Given the description of an element on the screen output the (x, y) to click on. 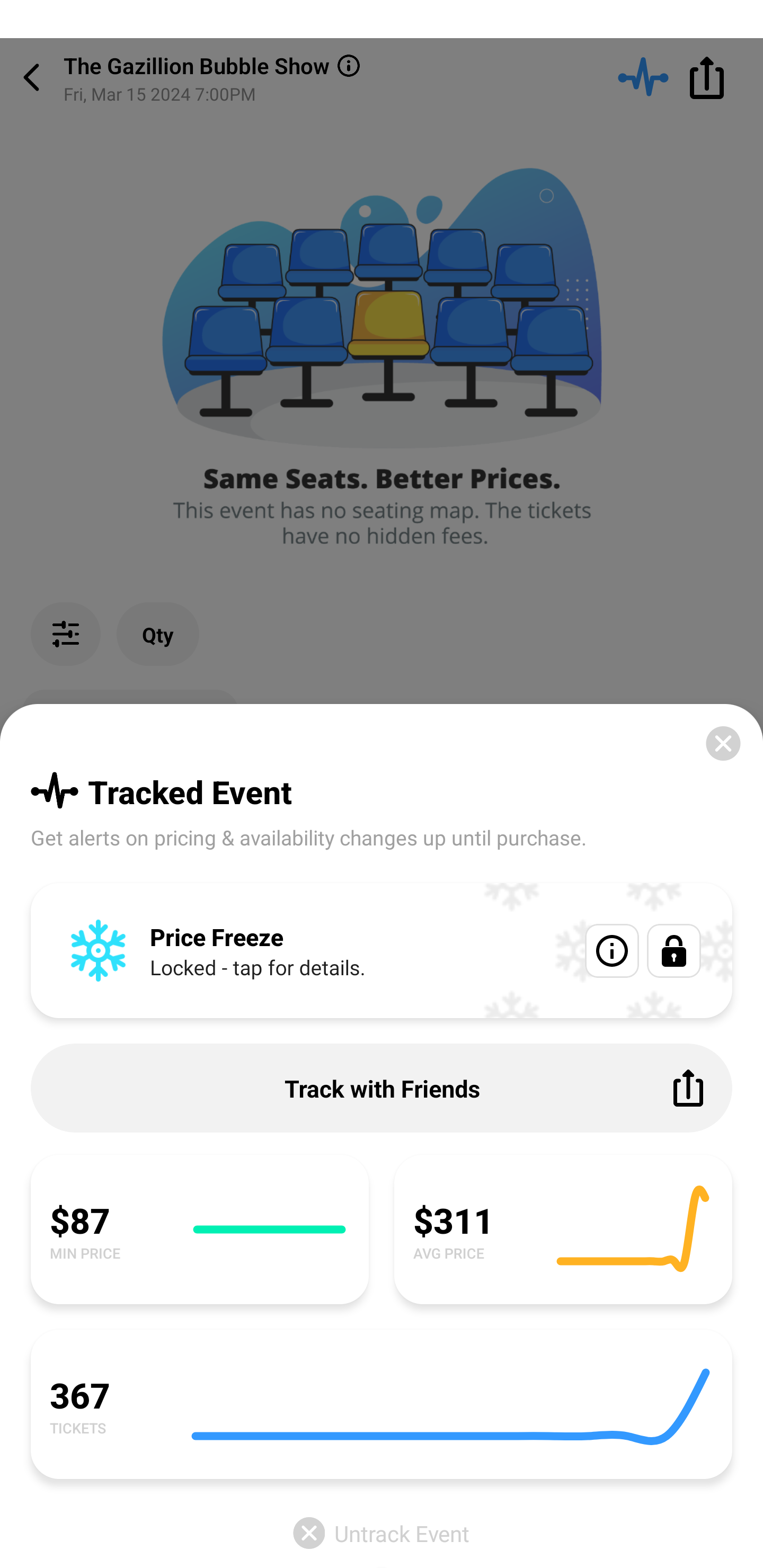
Track with Friends (381, 1088)
Untrack Event (381, 1533)
